Given the description of an element on the screen output the (x, y) to click on. 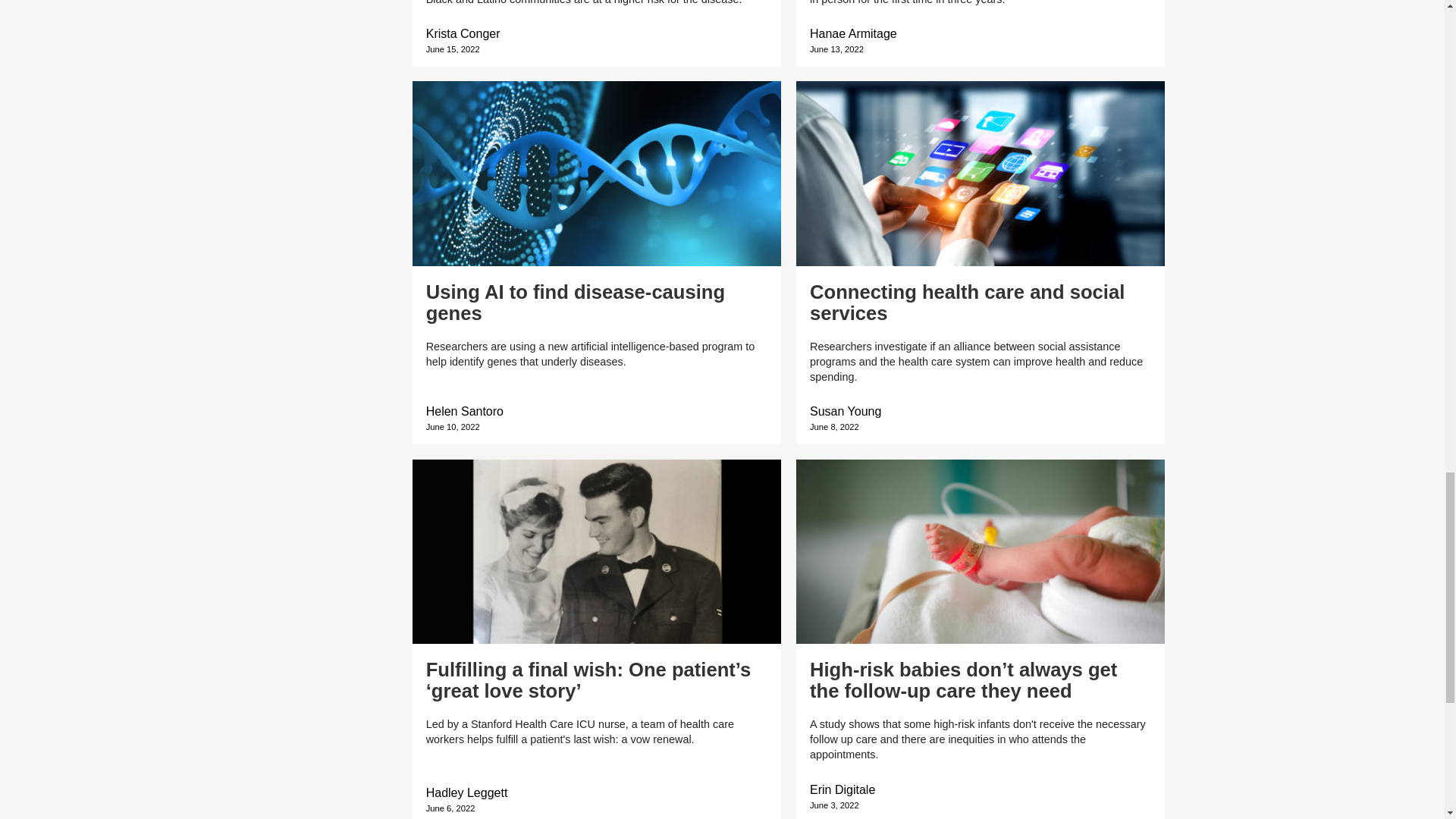
Helen Santoro (464, 410)
Krista Conger (463, 33)
Hanae Armitage (852, 33)
Using AI to find disease-causing genes (575, 302)
